Given the description of an element on the screen output the (x, y) to click on. 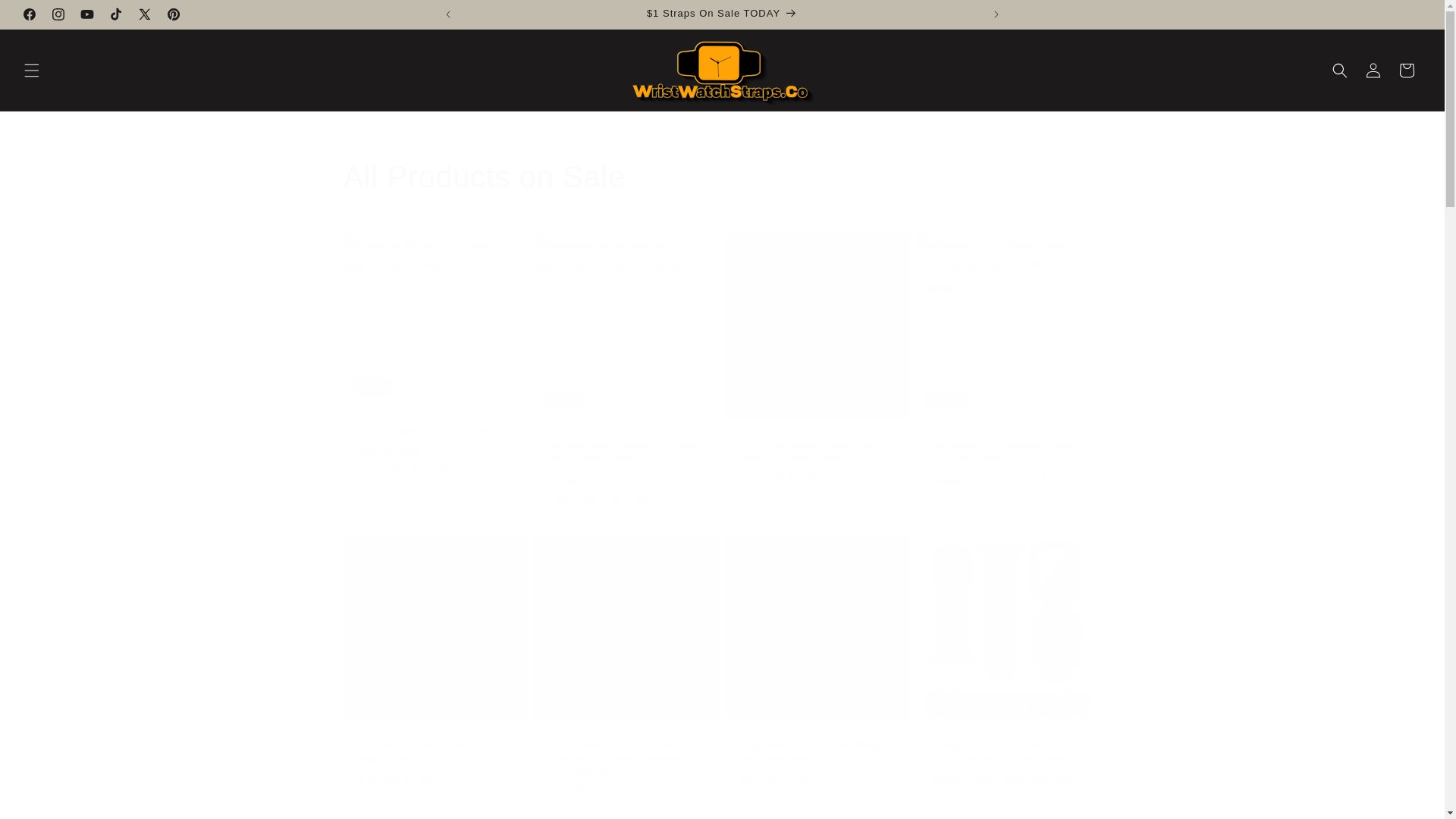
Facebook (28, 14)
Instagram (57, 14)
YouTube (86, 14)
Skip to content (45, 17)
TikTok (116, 14)
Pinterest (172, 14)
All Products on Sale (721, 176)
